Given the description of an element on the screen output the (x, y) to click on. 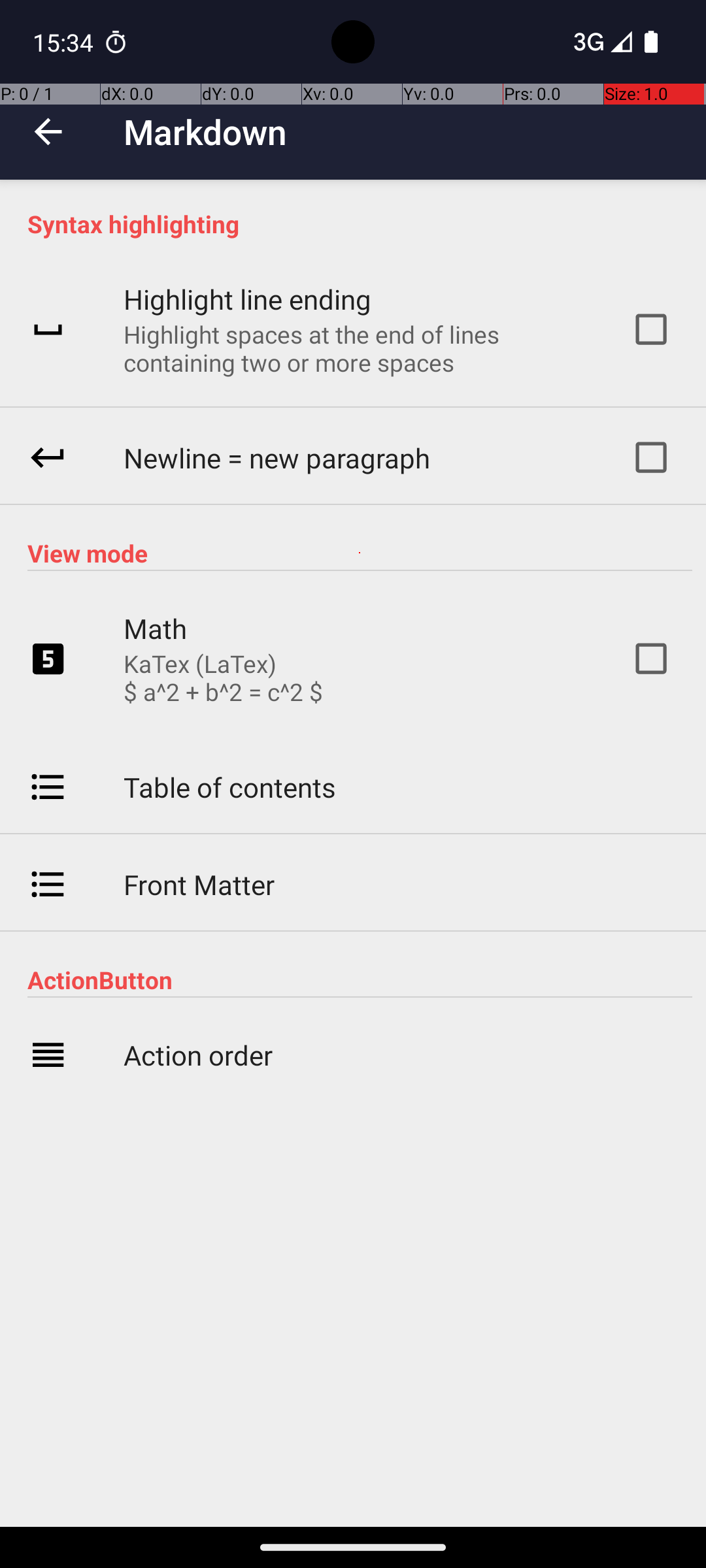
Syntax highlighting Element type: android.widget.TextView (359, 223)
ActionButton Element type: android.widget.TextView (359, 979)
Highlight line ending Element type: android.widget.TextView (247, 298)
Highlight spaces at the end of lines containing two or more spaces Element type: android.widget.TextView (359, 347)
Newline = new paragraph Element type: android.widget.TextView (276, 457)
Math Element type: android.widget.TextView (154, 627)
KaTex (LaTex)
$ a^2 + b^2 = c^2 $ Element type: android.widget.TextView (222, 677)
Front Matter Element type: android.widget.TextView (199, 883)
Action order Element type: android.widget.TextView (197, 1054)
